Given the description of an element on the screen output the (x, y) to click on. 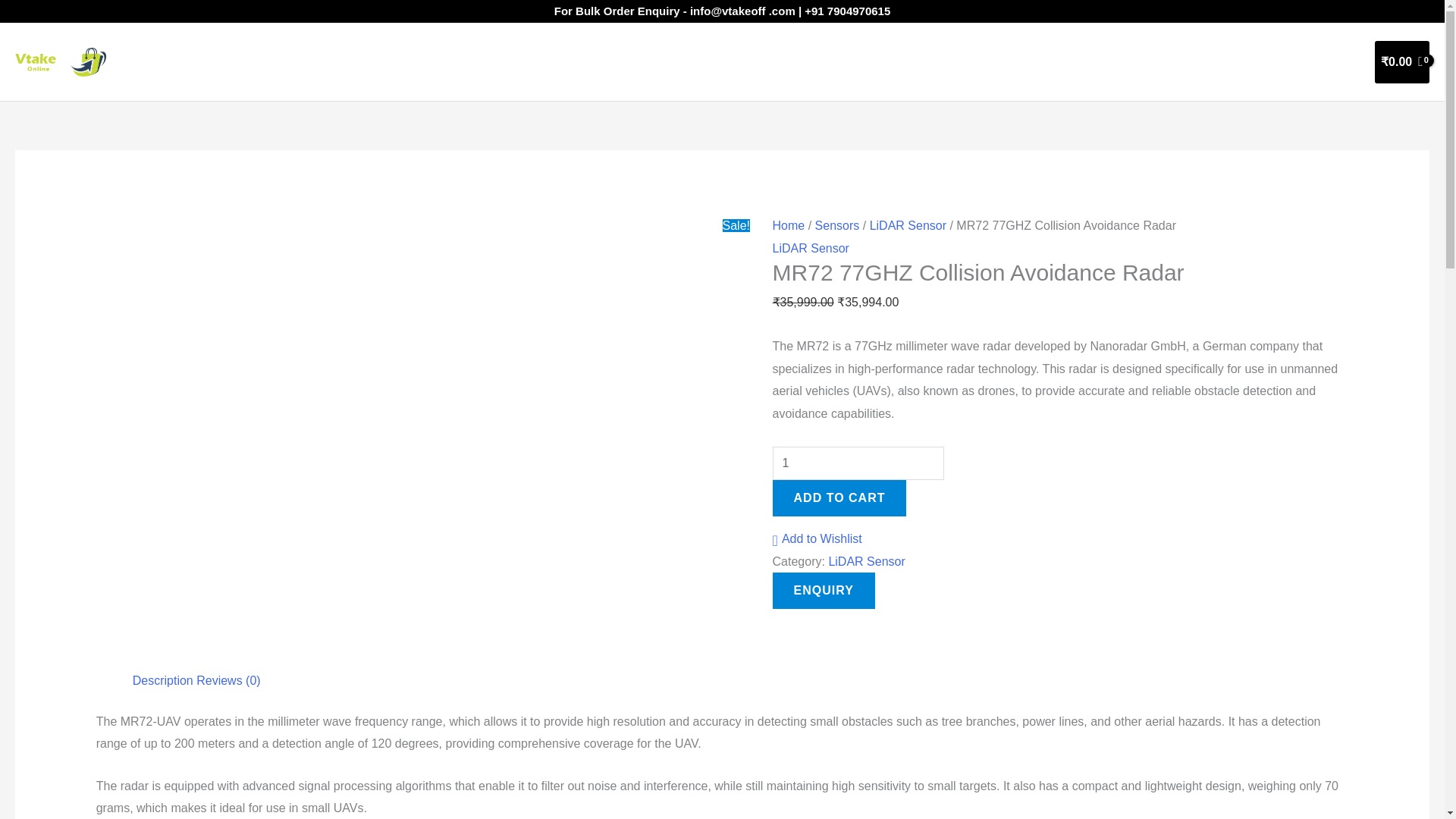
PRODUCTS (1125, 61)
1 (858, 462)
STORE (1043, 61)
HOME (981, 61)
MY ACCOUNT (1219, 61)
Enquiry (824, 590)
CONTACT US (1312, 61)
